Given the description of an element on the screen output the (x, y) to click on. 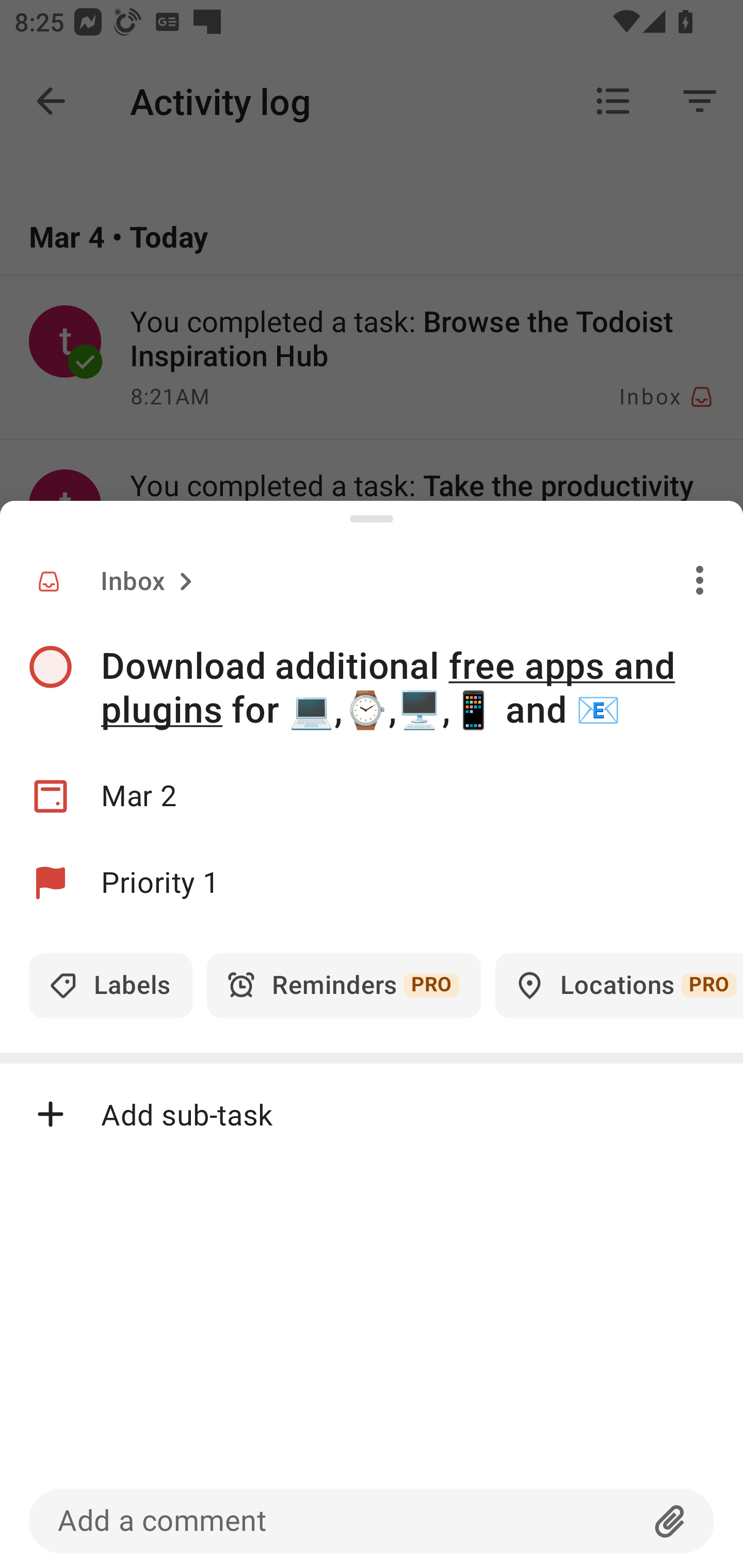
Overflow menu (699, 580)
Complete (50, 667)
Date Mar 2 (371, 796)
Priority Priority 1 (371, 883)
Labels (110, 985)
Reminders PRO (343, 985)
Locations PRO (619, 985)
Add sub-task (371, 1113)
Add a comment Attachment (371, 1520)
Attachment (670, 1520)
